Given the description of an element on the screen output the (x, y) to click on. 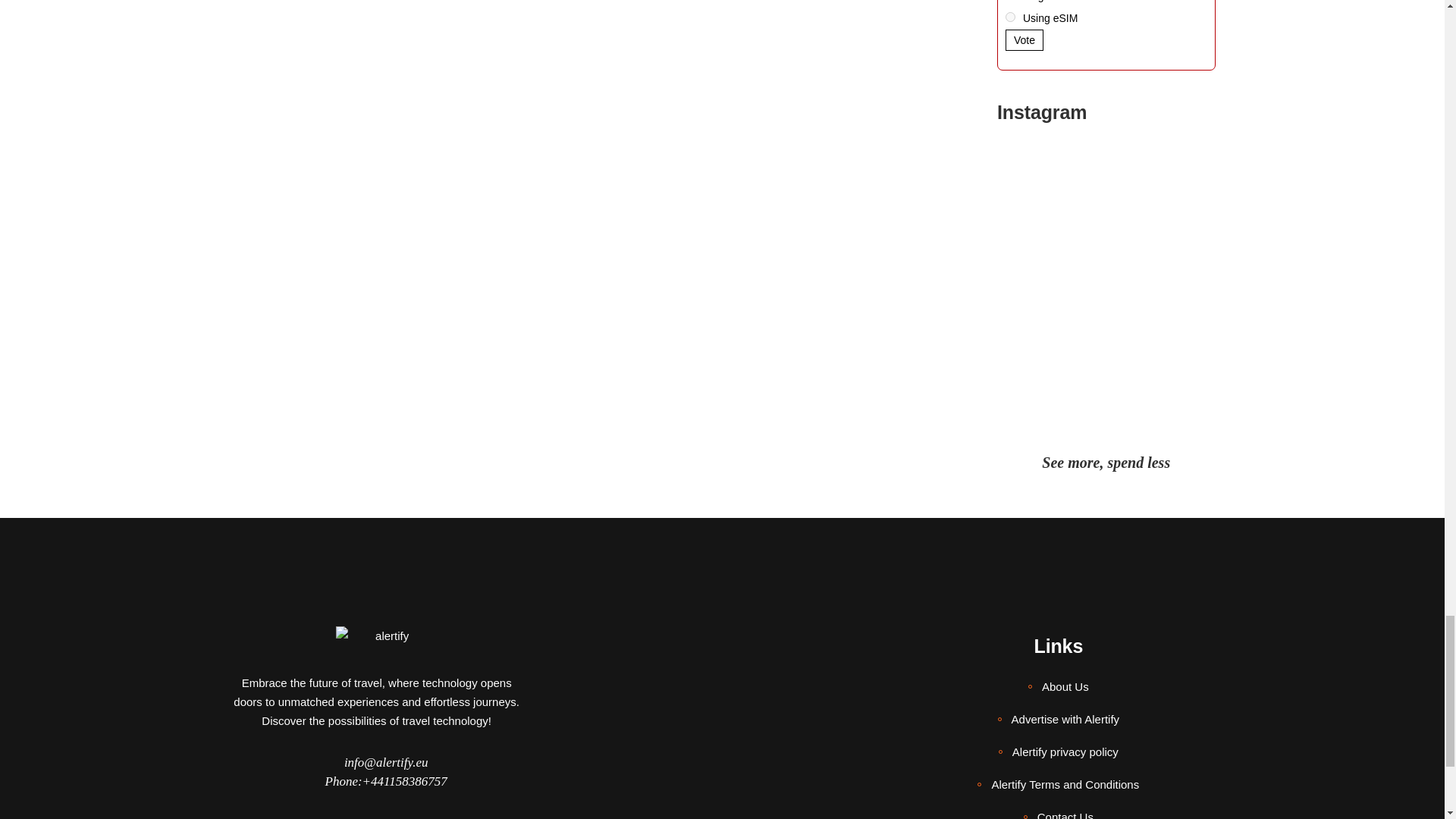
375 (1010, 17)
